Given the description of an element on the screen output the (x, y) to click on. 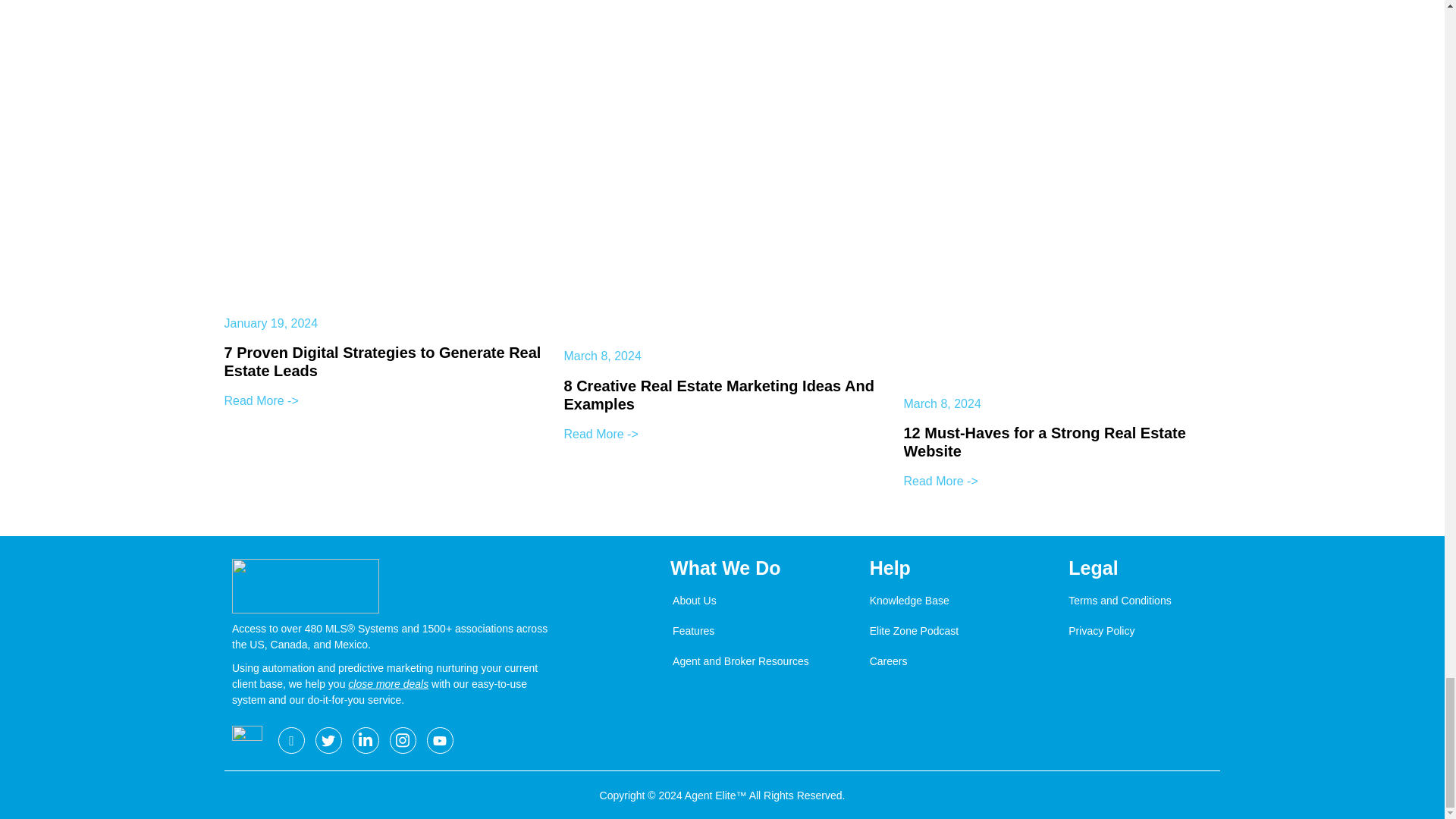
7 Proven Digital Strategies to Generate Real Estate Leads (382, 361)
12 Must-Haves for a Strong Real Estate Website (1045, 442)
8 Creative Real Estate Marketing Ideas And Examples (719, 394)
